Given the description of an element on the screen output the (x, y) to click on. 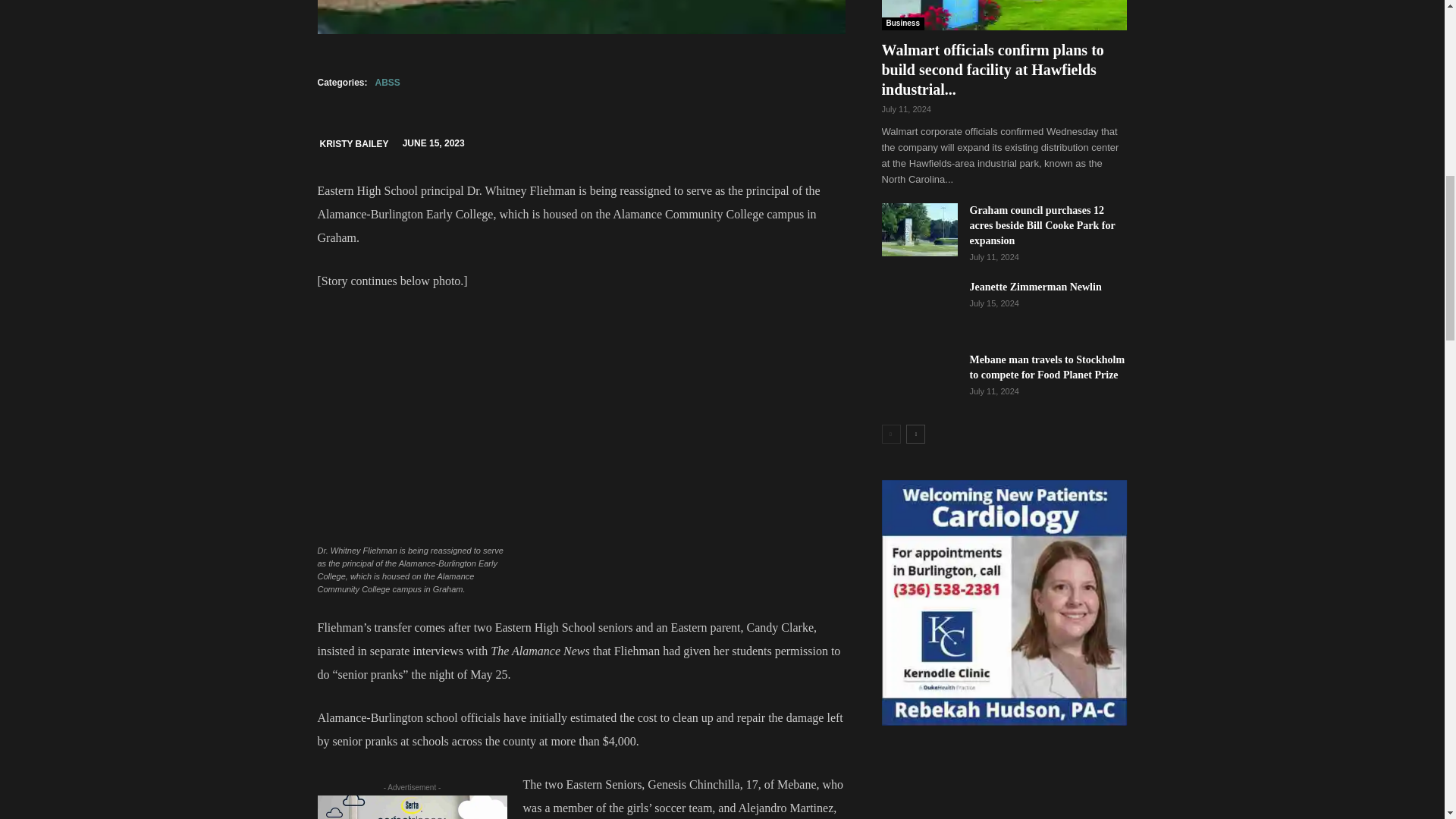
EA Front (580, 17)
